Given the description of an element on the screen output the (x, y) to click on. 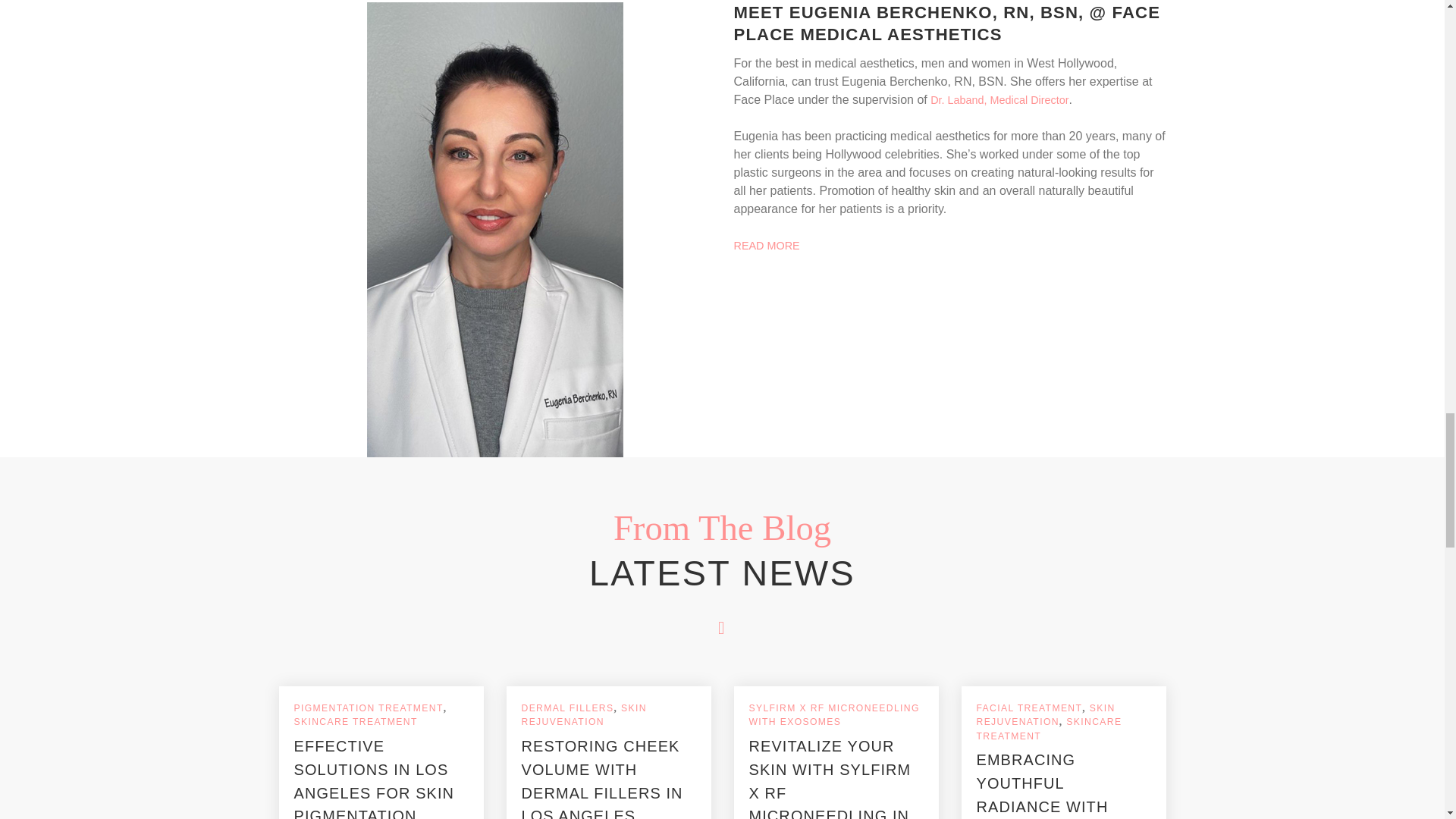
Eugenia Berchenko RN (494, 229)
